Given the description of an element on the screen output the (x, y) to click on. 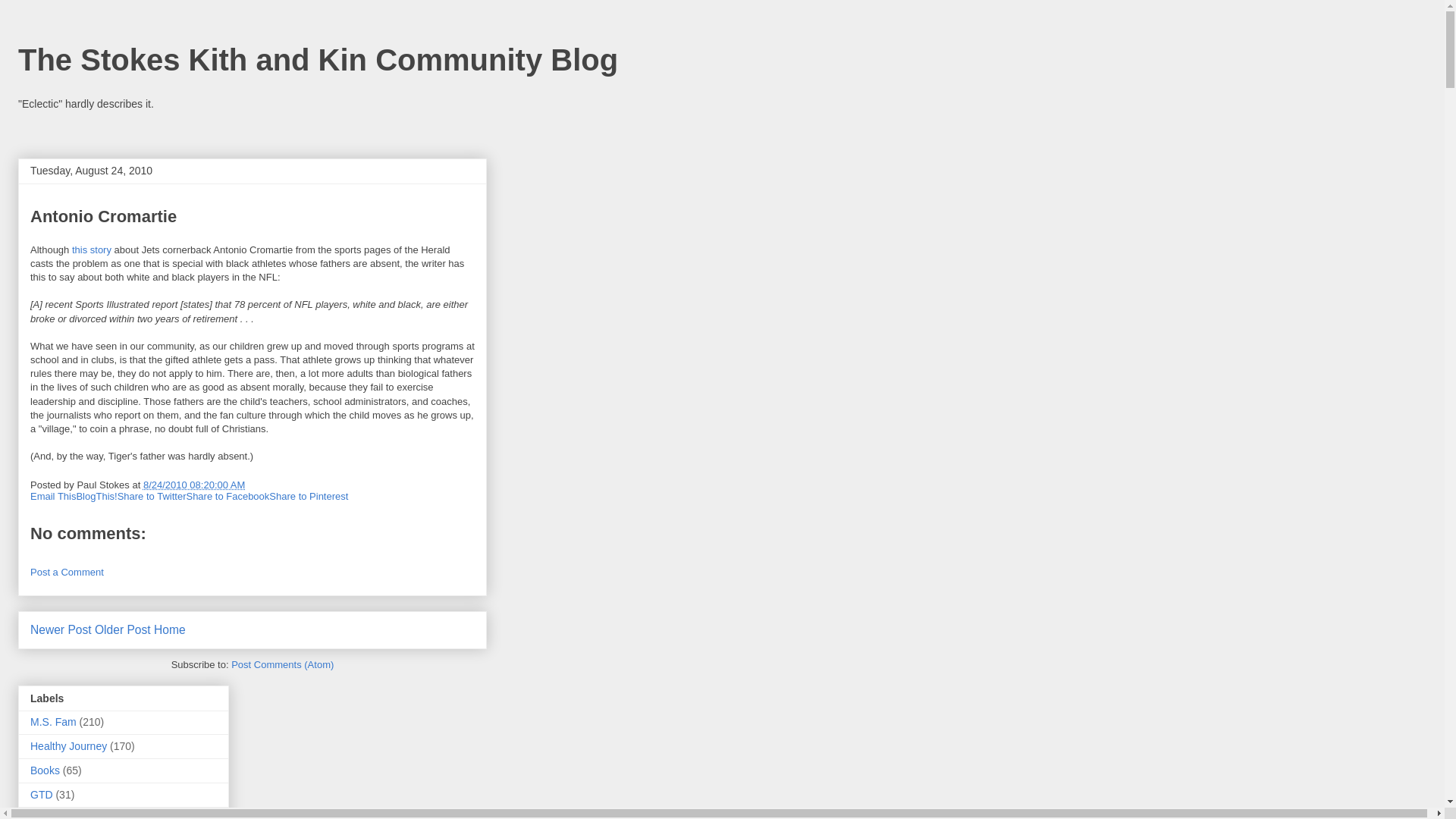
GTD (41, 794)
Email Post (254, 484)
Share to Twitter (151, 496)
M.S. Fam (53, 721)
Share to Facebook (227, 496)
BlogThis! (95, 496)
Sarah Palin (57, 816)
Books (44, 770)
Healthy Journey (68, 746)
permanent link (193, 484)
The Stokes Kith and Kin Community Blog (317, 59)
Newer Post (60, 629)
Share to Twitter (151, 496)
Older Post (122, 629)
this story (91, 249)
